Given the description of an element on the screen output the (x, y) to click on. 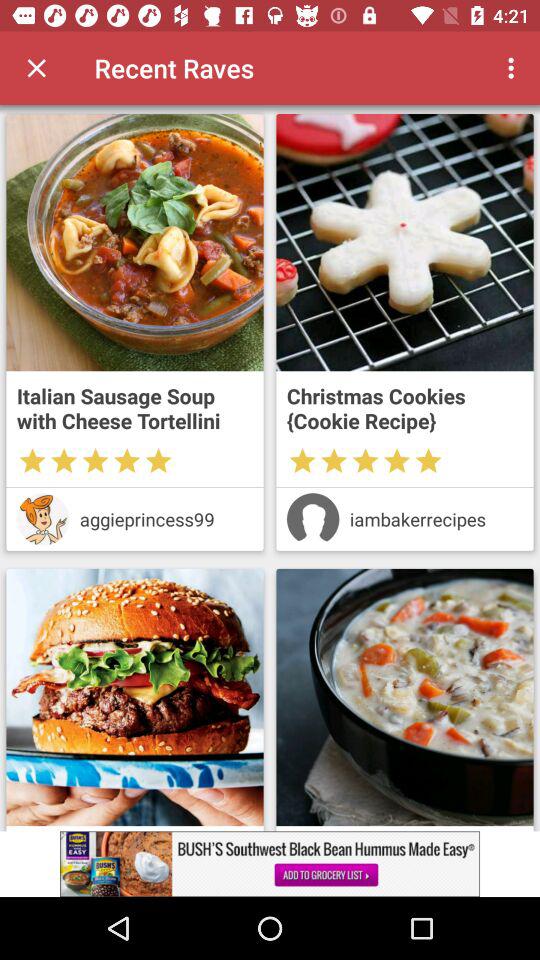
princeliness (42, 519)
